Given the description of an element on the screen output the (x, y) to click on. 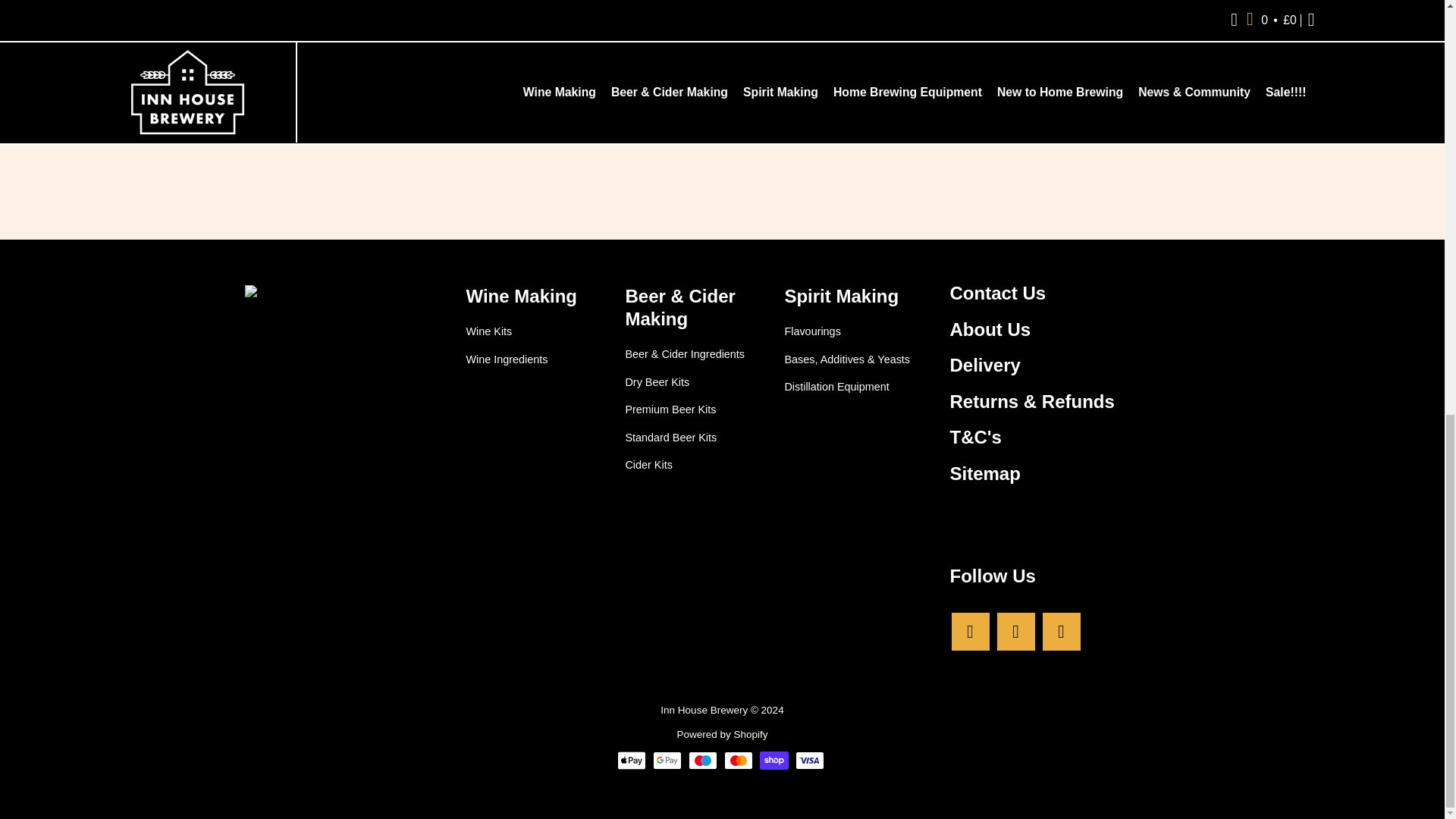
Apple Pay (631, 760)
Shop Pay (774, 760)
Maestro (702, 760)
Mastercard (737, 760)
Visa (809, 760)
Google Pay (666, 760)
